Given the description of an element on the screen output the (x, y) to click on. 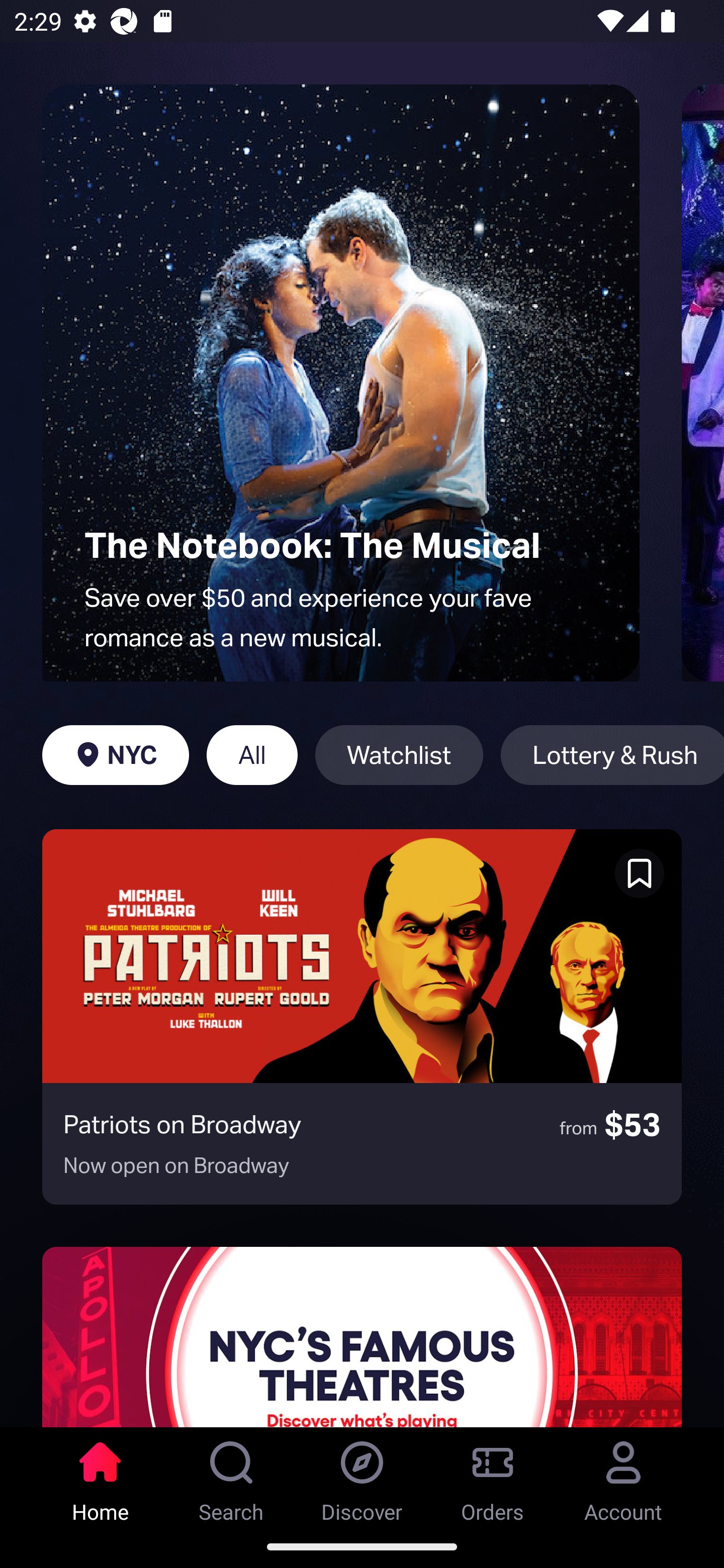
NYC (114, 754)
All (251, 754)
Watchlist (398, 754)
Lottery & Rush (612, 754)
Patriots on Broadway from $53 Now open on Broadway (361, 1016)
Search (230, 1475)
Discover (361, 1475)
Orders (492, 1475)
Account (623, 1475)
